Given the description of an element on the screen output the (x, y) to click on. 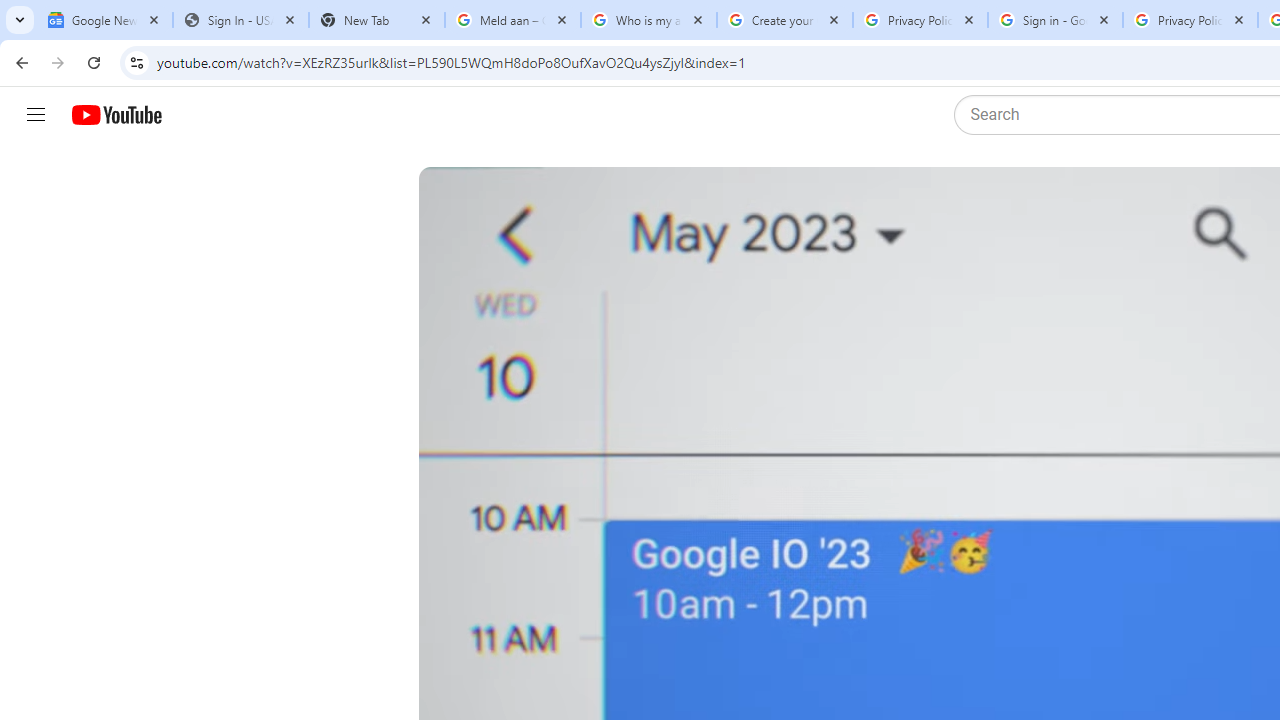
New Tab (376, 20)
Google News (104, 20)
Sign In - USA TODAY (240, 20)
Create your Google Account (784, 20)
Who is my administrator? - Google Account Help (648, 20)
